Given the description of an element on the screen output the (x, y) to click on. 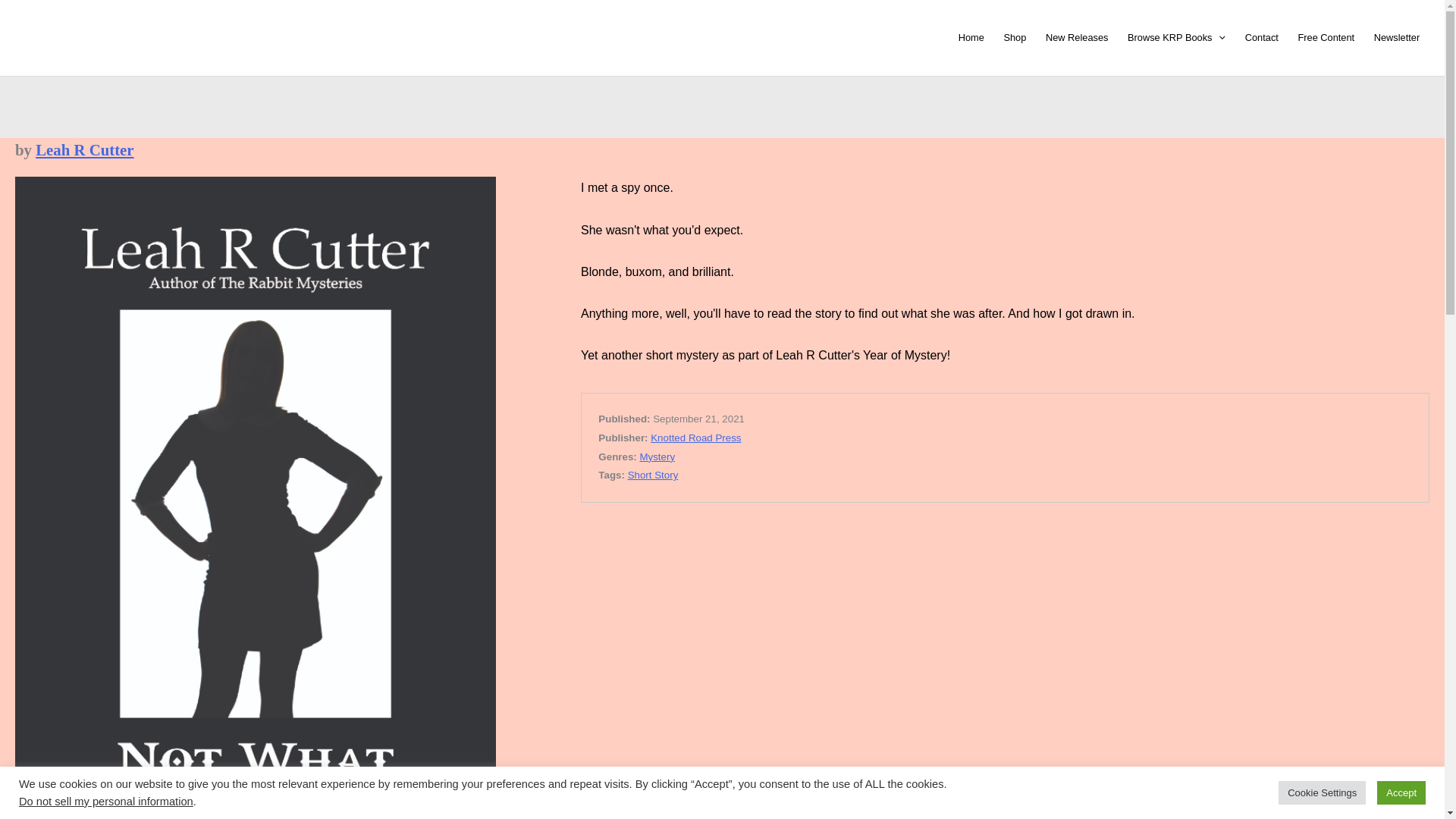
Contact (1261, 38)
Browse KRP Books (1176, 38)
Newsletter (1396, 38)
Shop (1014, 38)
New Releases (1076, 38)
Free Content (1326, 38)
Home (971, 38)
